Given the description of an element on the screen output the (x, y) to click on. 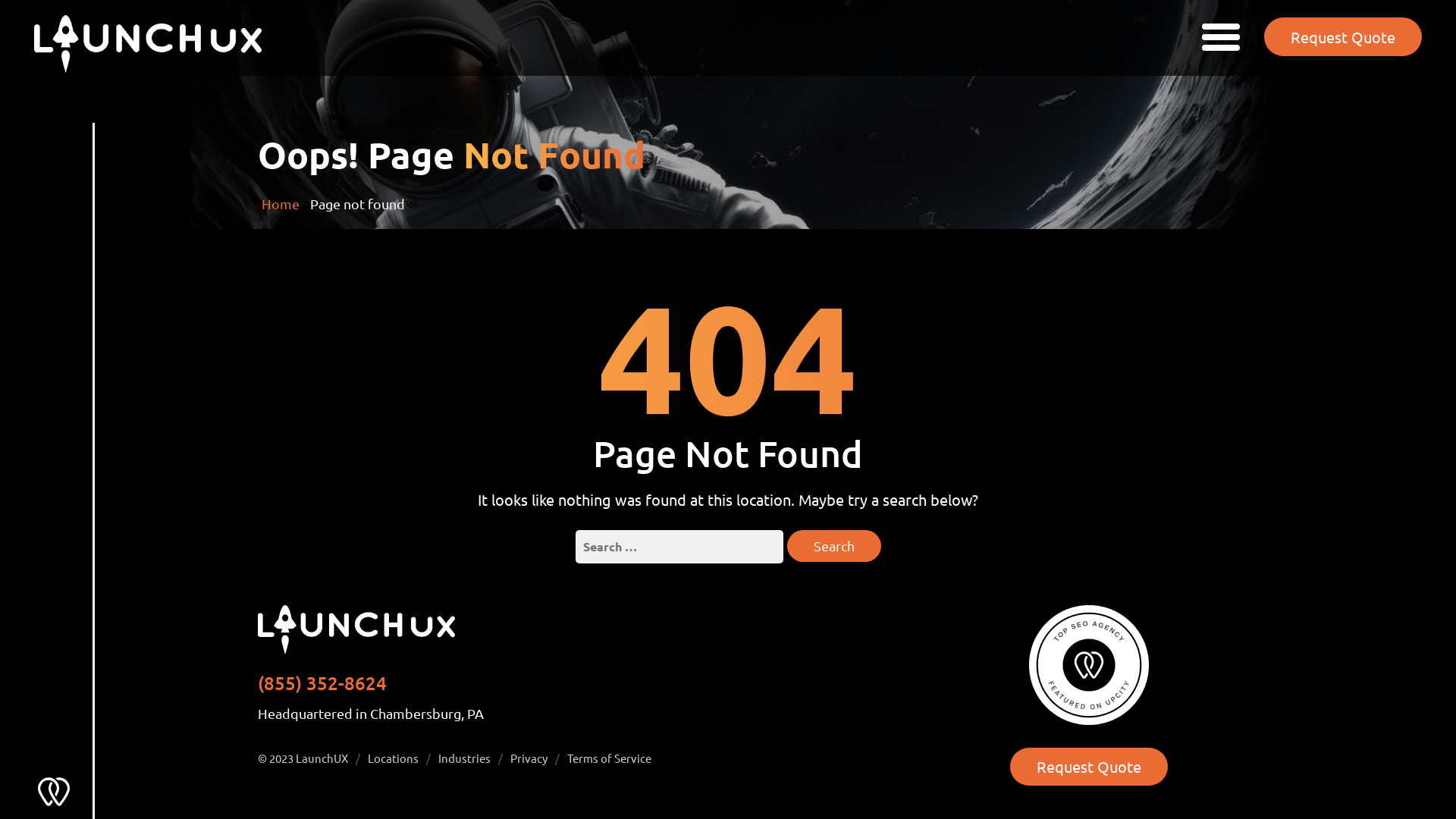
Home Element type: text (278, 203)
LaunchUX Element type: text (321, 757)
(855) 352-8624 Element type: text (321, 682)
Industries Element type: text (464, 757)
Privacy Element type: text (528, 757)
Request Quote Element type: text (1088, 766)
Terms of Service Element type: text (609, 757)
Search Element type: text (834, 545)
Request Quote Element type: text (1342, 36)
Locations Element type: text (392, 757)
